Given the description of an element on the screen output the (x, y) to click on. 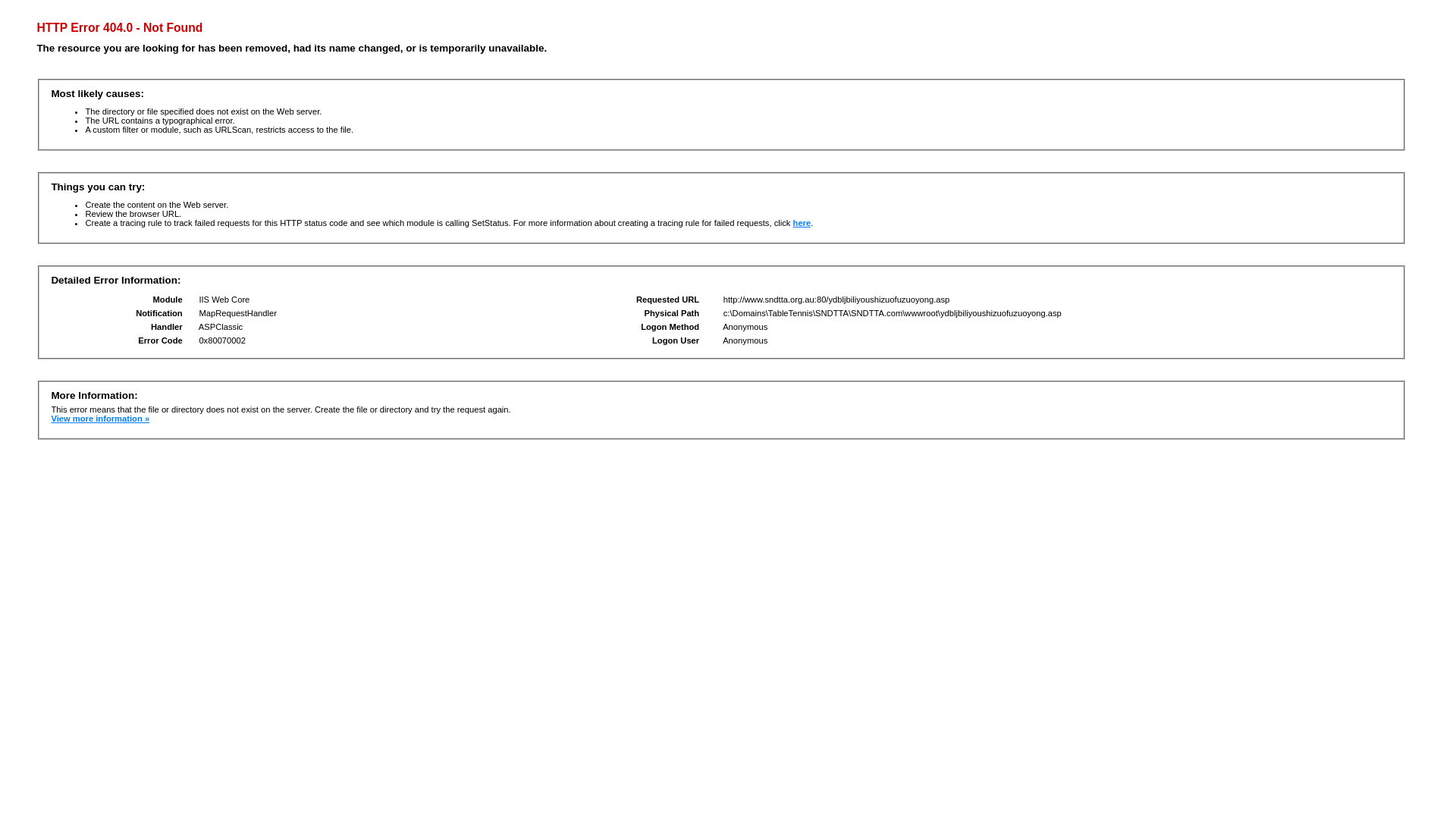
here Element type: text (802, 222)
